Given the description of an element on the screen output the (x, y) to click on. 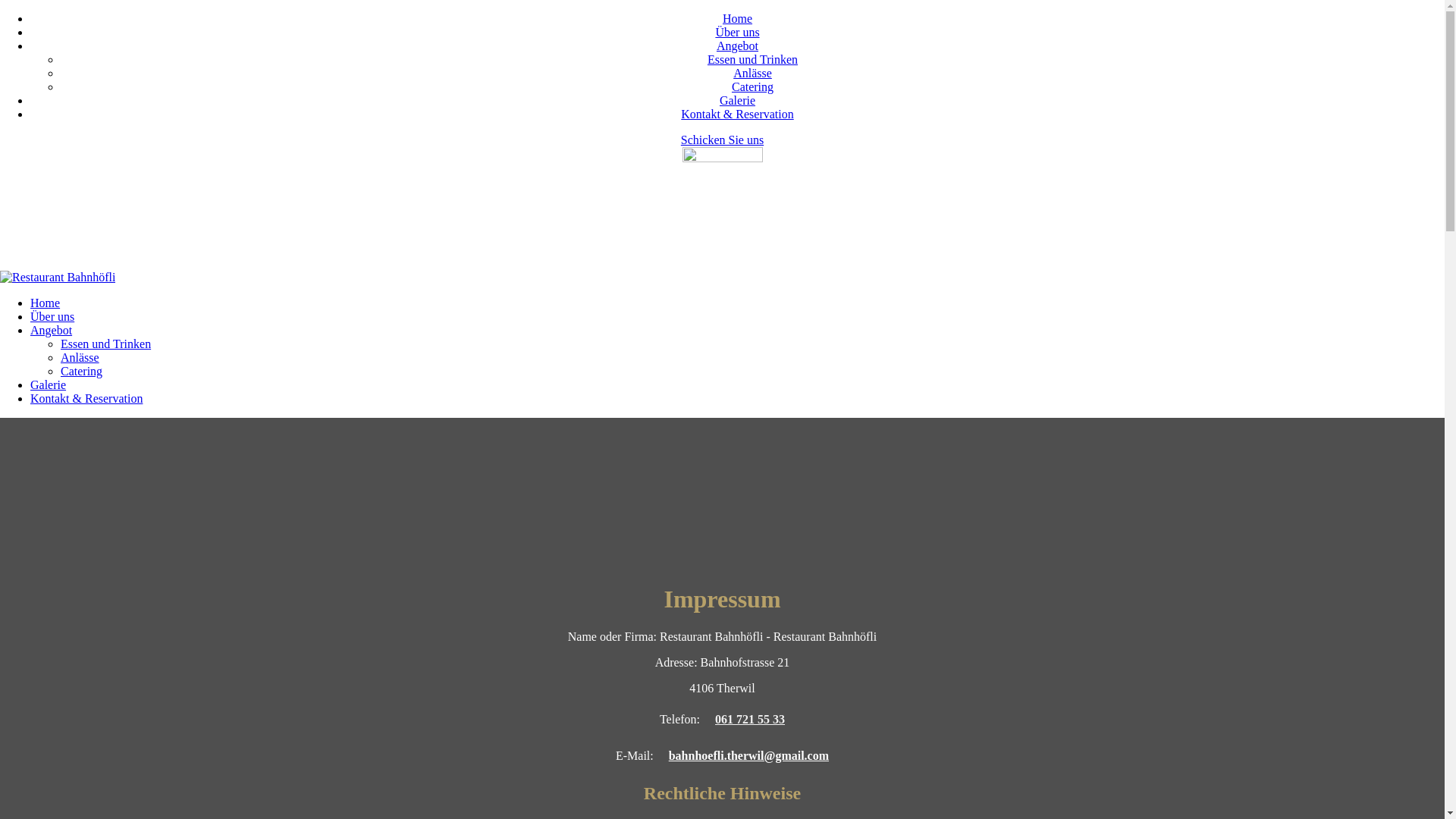
Galerie Element type: text (737, 100)
Angebot Element type: text (51, 329)
Home Element type: text (737, 18)
bahnhoefli.therwil@gmail.com Element type: text (136, 246)
Kontakt & Reservation Element type: text (86, 398)
bahnhoefli.therwil@gmail.com Element type: text (748, 755)
Schicken Sie uns Element type: text (721, 139)
Kontakt & Reservation Element type: text (736, 113)
Catering Element type: text (752, 86)
Catering Element type: text (81, 370)
Essen und Trinken Element type: text (105, 343)
Galerie Element type: text (47, 384)
Angebot Element type: text (737, 45)
061 721 55 33 Element type: text (749, 718)
Essen und Trinken Element type: text (752, 59)
Home Element type: text (44, 302)
